Given the description of an element on the screen output the (x, y) to click on. 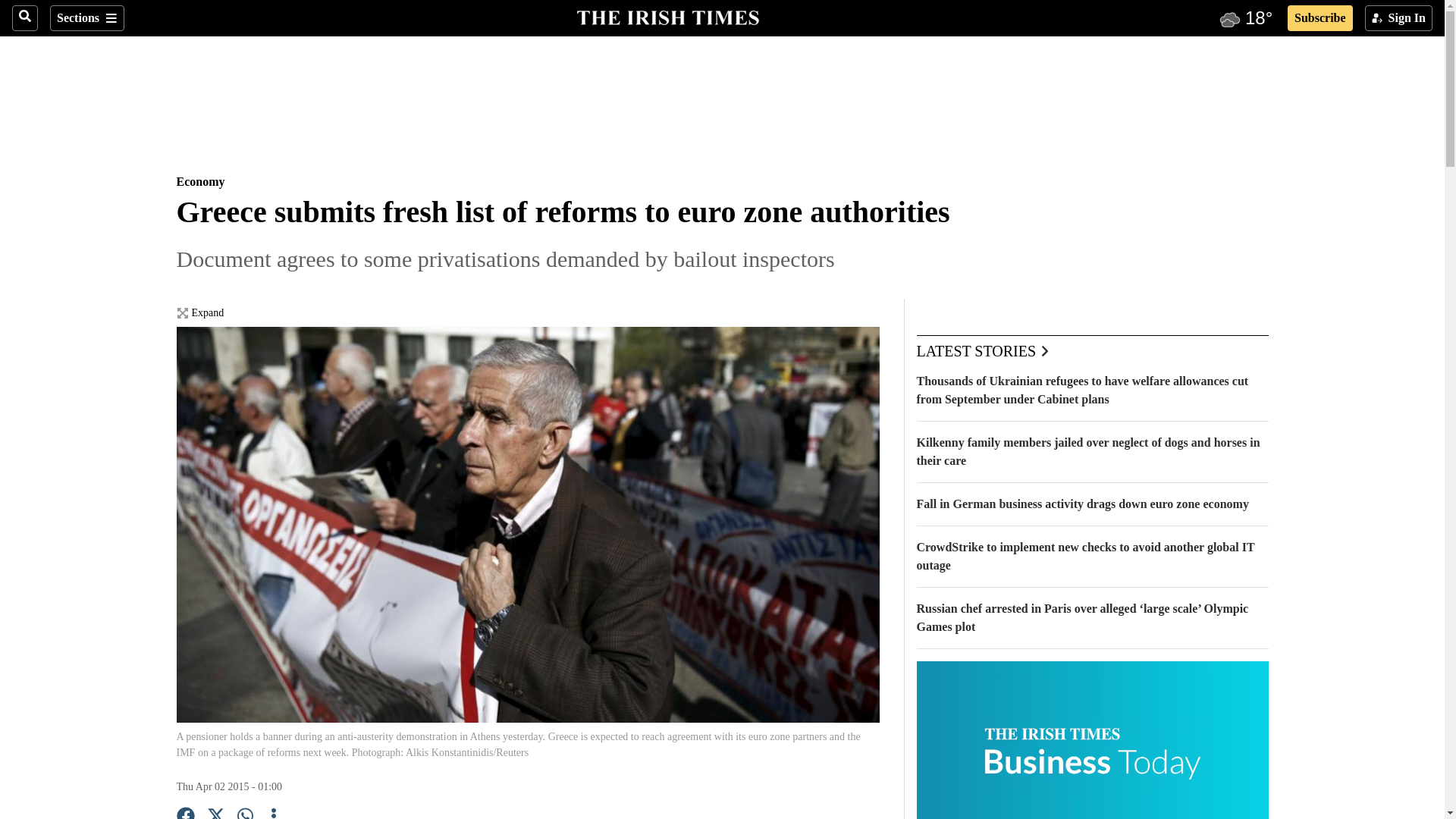
The Irish Times (667, 16)
X (215, 812)
Subscribe (1319, 17)
Sign In (1398, 17)
WhatsApp (244, 812)
Facebook (184, 812)
Sections (86, 17)
